Given the description of an element on the screen output the (x, y) to click on. 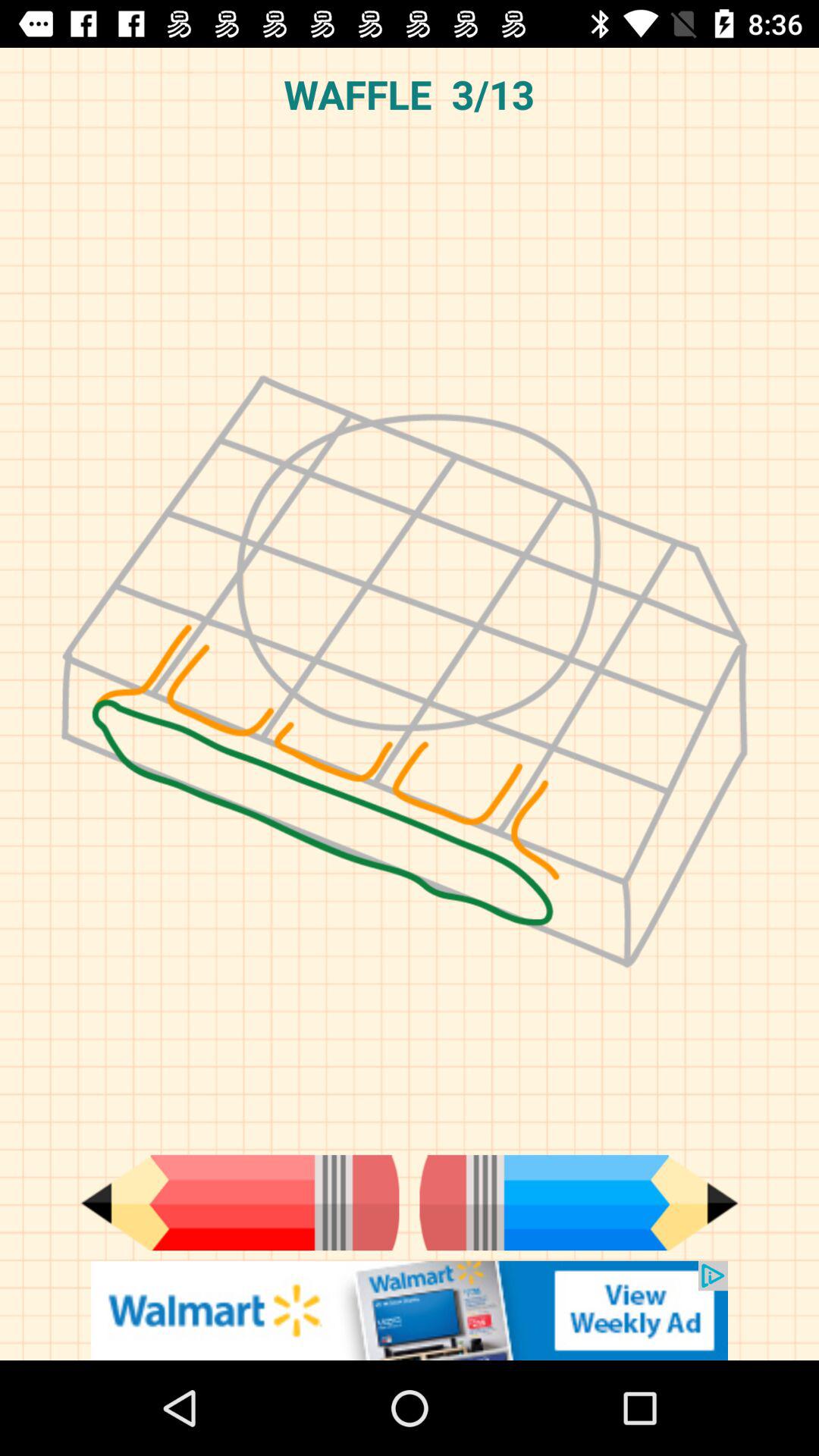
select the add (239, 1202)
